Given the description of an element on the screen output the (x, y) to click on. 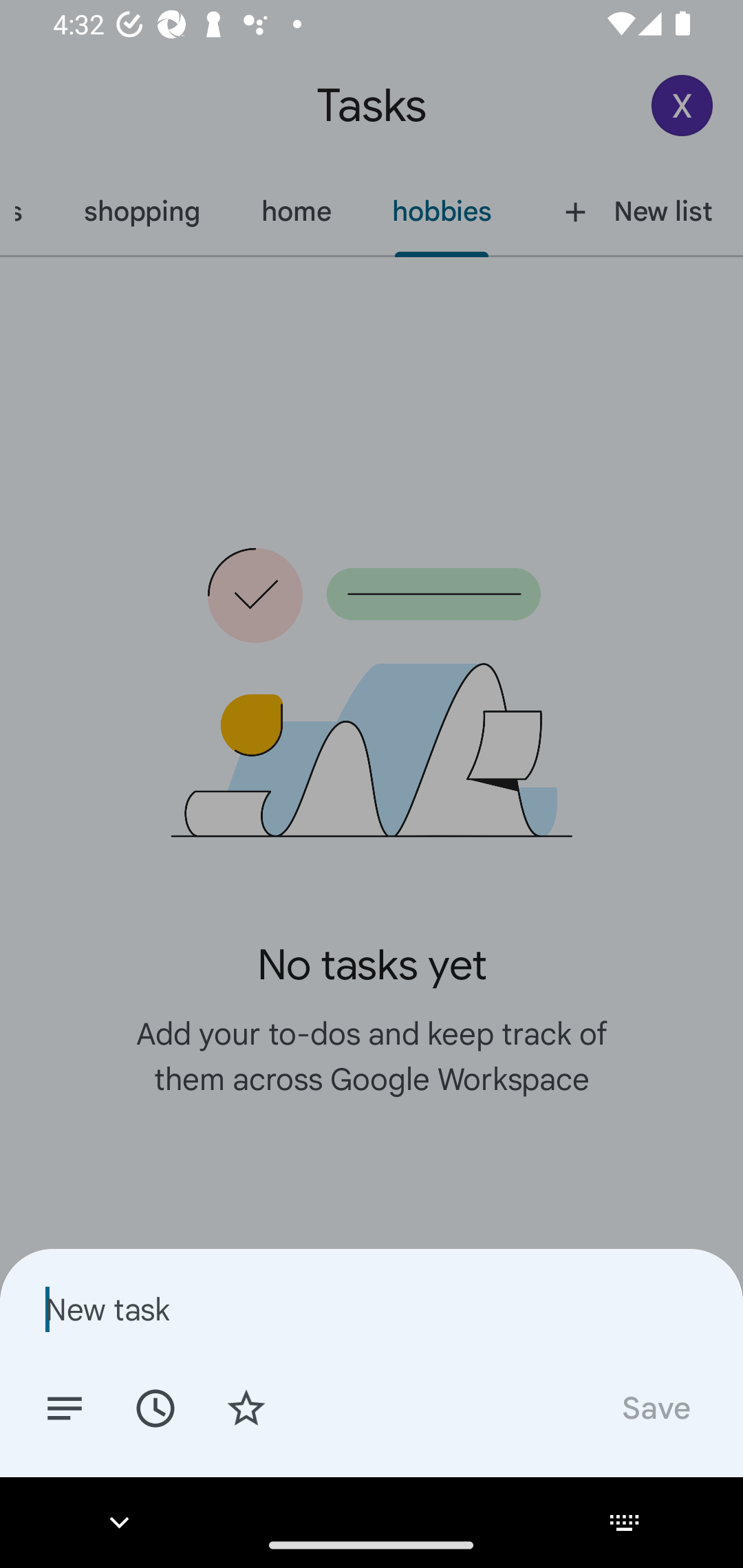
New task (371, 1308)
Save (655, 1407)
Add details (64, 1407)
Set date/time (154, 1407)
Add star (245, 1407)
